Given the description of an element on the screen output the (x, y) to click on. 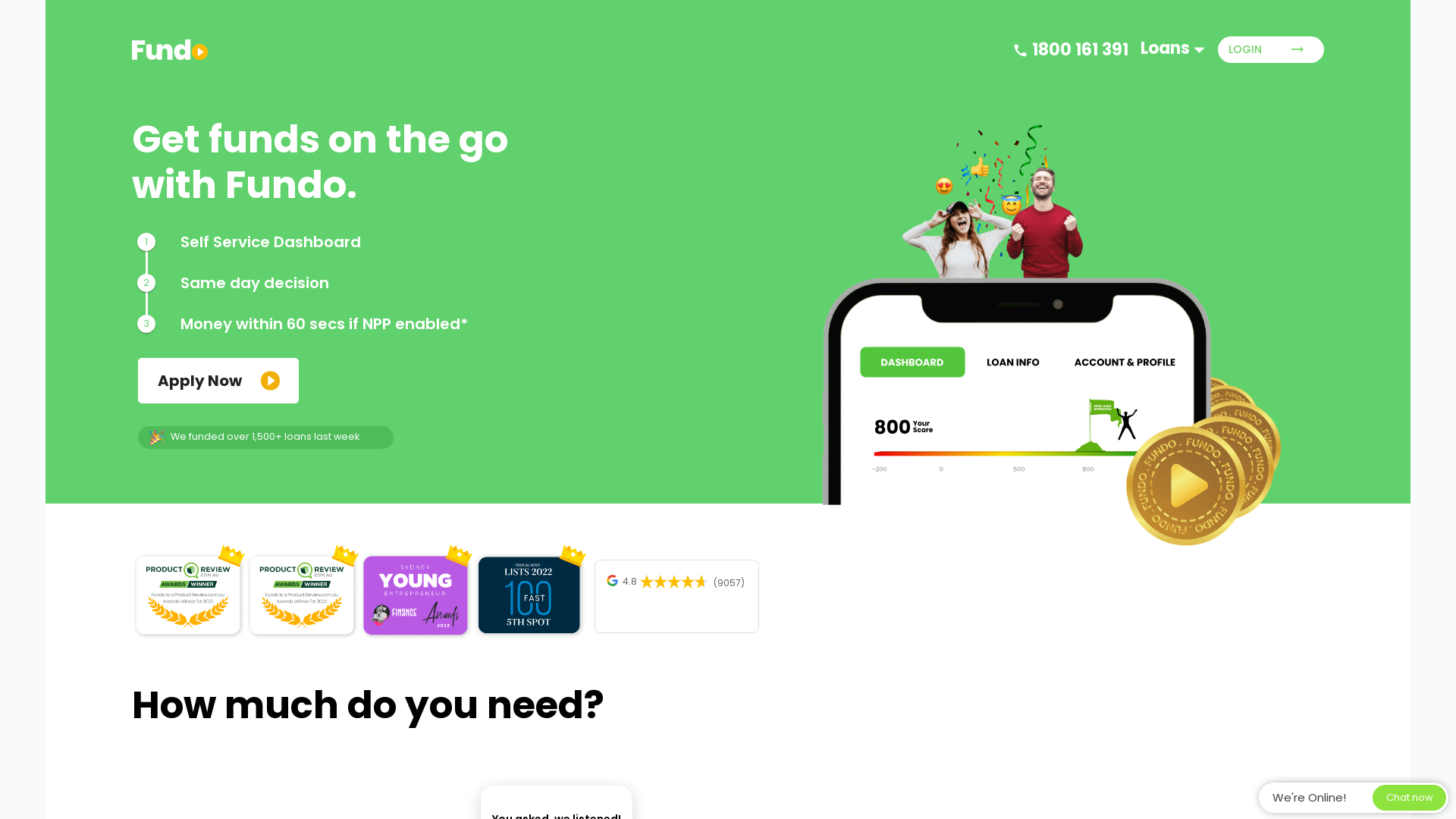
call
1800 161 391 Element type: text (1070, 49)
Apply Now Element type: text (218, 380)
LOGIN
arrow_right_alt Element type: text (1270, 49)
call
1800 161 391 Element type: text (1070, 49)
Loans
arrow_drop_down Element type: text (1185, 48)
Loans
arrow_drop_down Element type: text (1185, 47)
